Given the description of an element on the screen output the (x, y) to click on. 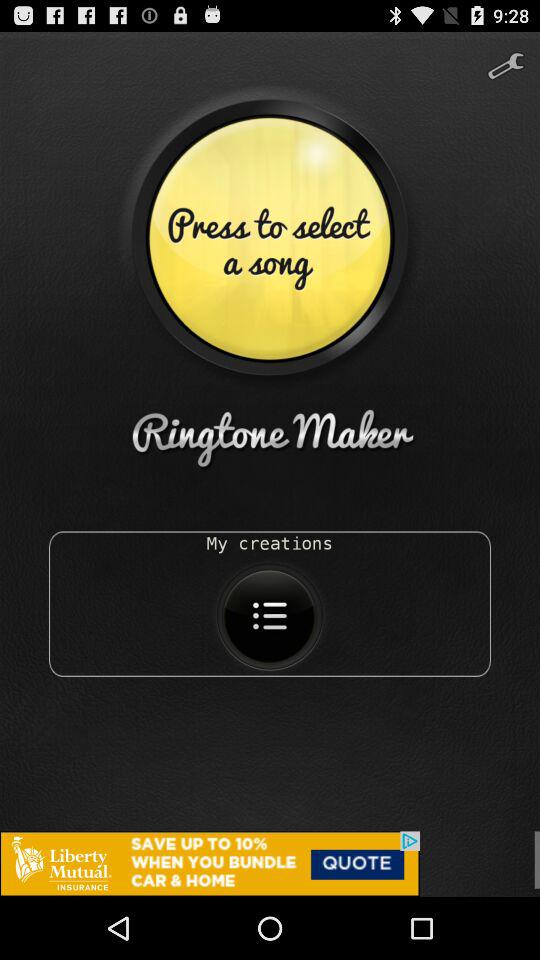
search (505, 58)
